Given the description of an element on the screen output the (x, y) to click on. 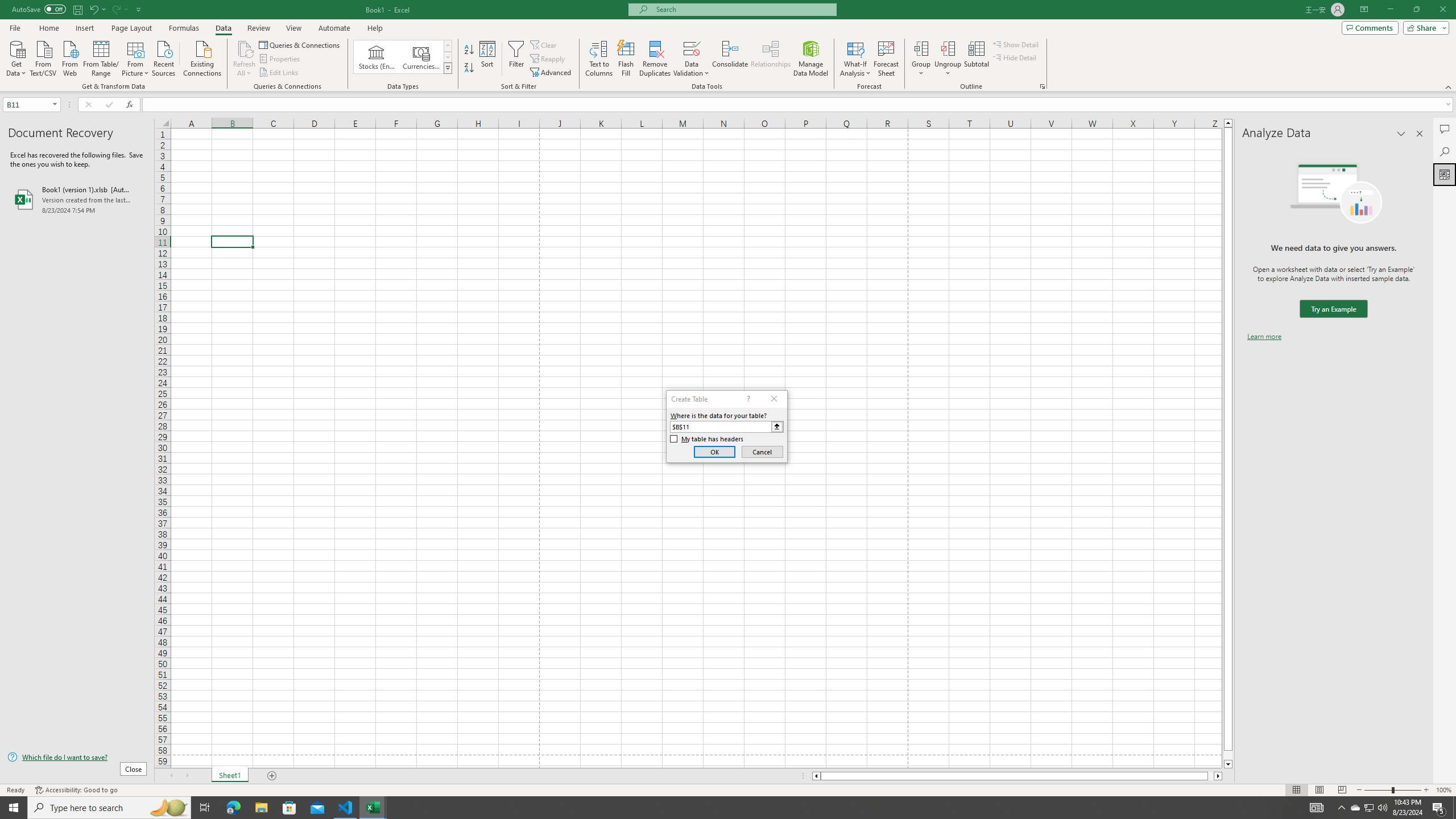
Sort A to Z (469, 49)
Remove Duplicates (654, 58)
From Table/Range (100, 57)
Learn more (1264, 336)
Row up (448, 45)
Restore Down (1416, 9)
From Web (69, 57)
Consolidate... (729, 58)
Formula Bar (799, 104)
Stocks (English) (375, 56)
